Given the description of an element on the screen output the (x, y) to click on. 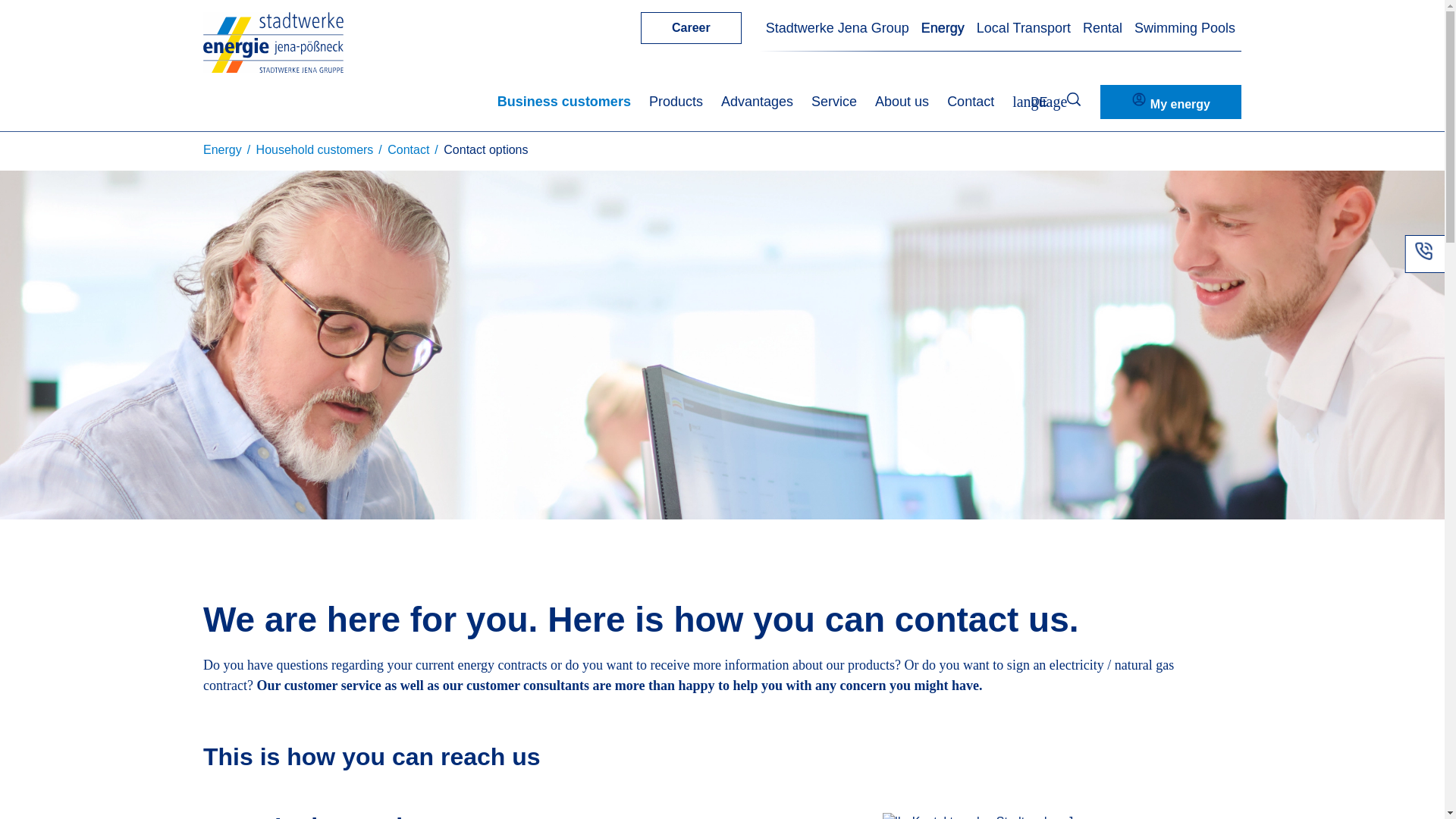
Rental (1102, 28)
Products (676, 101)
About us (901, 101)
Career (690, 28)
Stadtwerke Jena Group (837, 28)
Local Transport (1024, 28)
Sprache wechseln (1028, 101)
Swimming Pools (1184, 28)
Contact (970, 101)
Advantages (756, 101)
DE (1028, 101)
Service (833, 101)
Energy (943, 28)
Ihr Kontakt zu den Stadtwerken Jena (987, 816)
Business customers (563, 101)
